Given the description of an element on the screen output the (x, y) to click on. 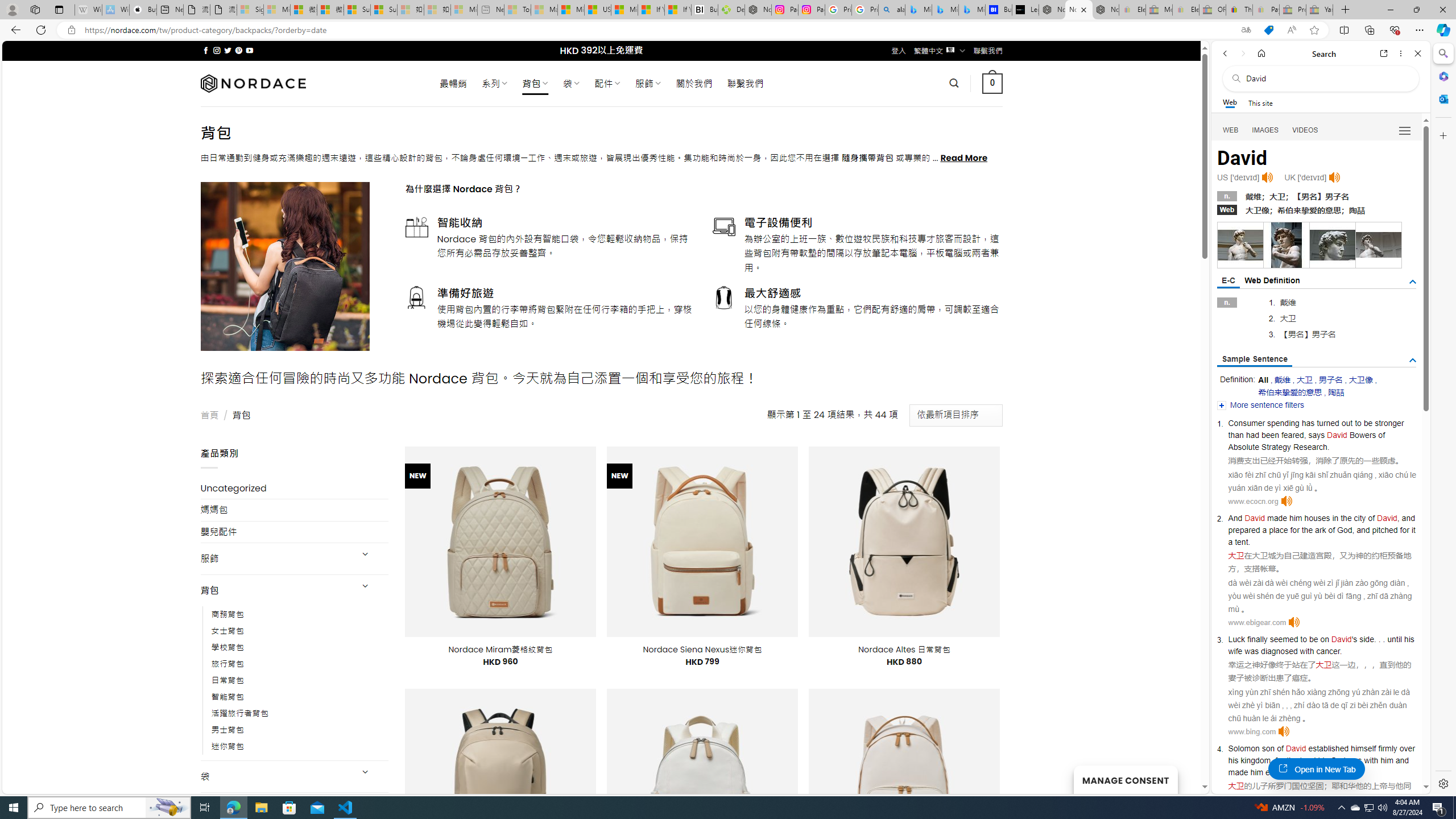
has (1307, 422)
Wikipedia - Sleeping (87, 9)
Uncategorized (294, 488)
Microsoft Bing Travel - Flights from Hong Kong to Bangkok (917, 9)
. (1328, 772)
